Given the description of an element on the screen output the (x, y) to click on. 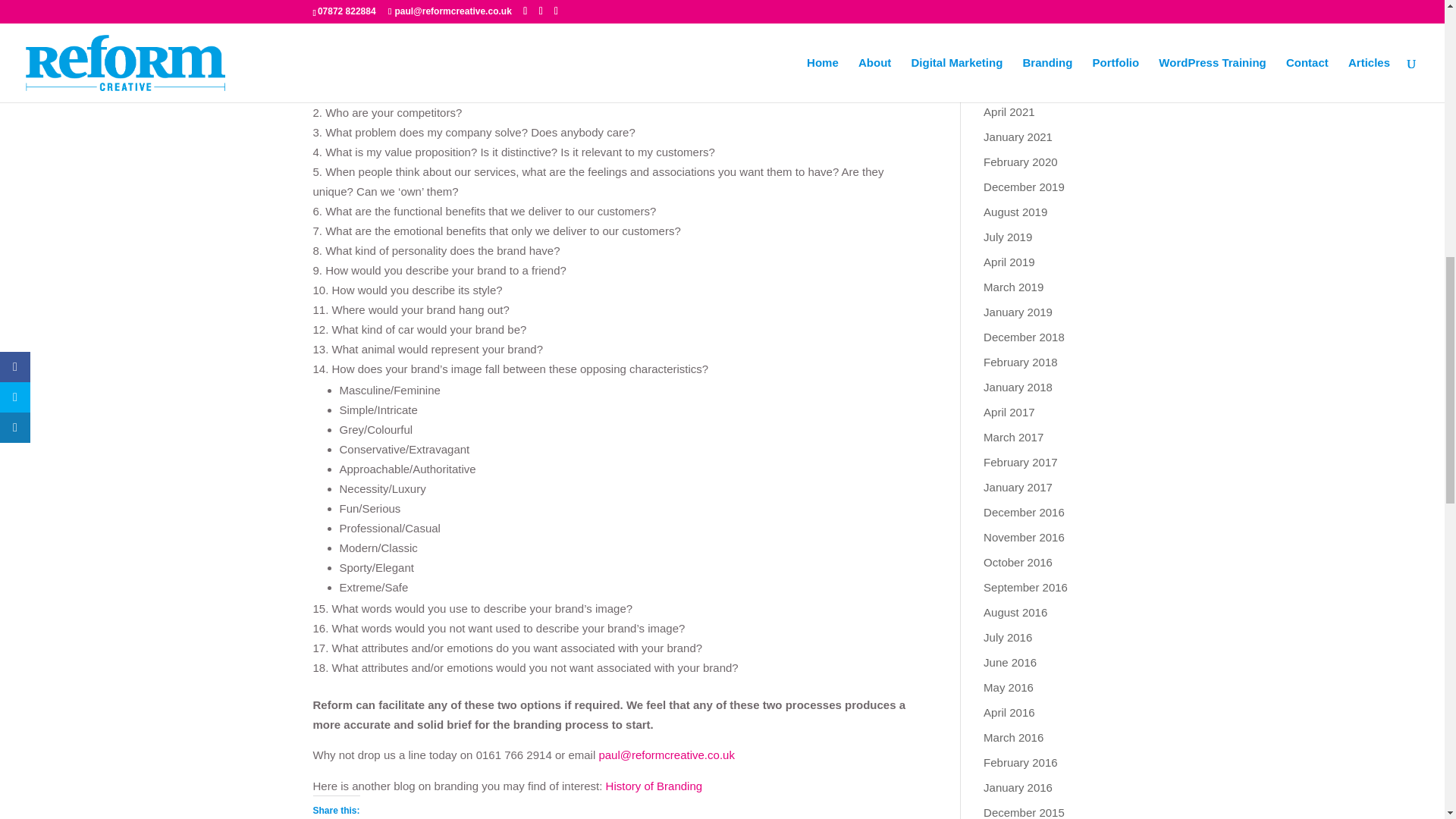
History of Branding (654, 785)
